Given the description of an element on the screen output the (x, y) to click on. 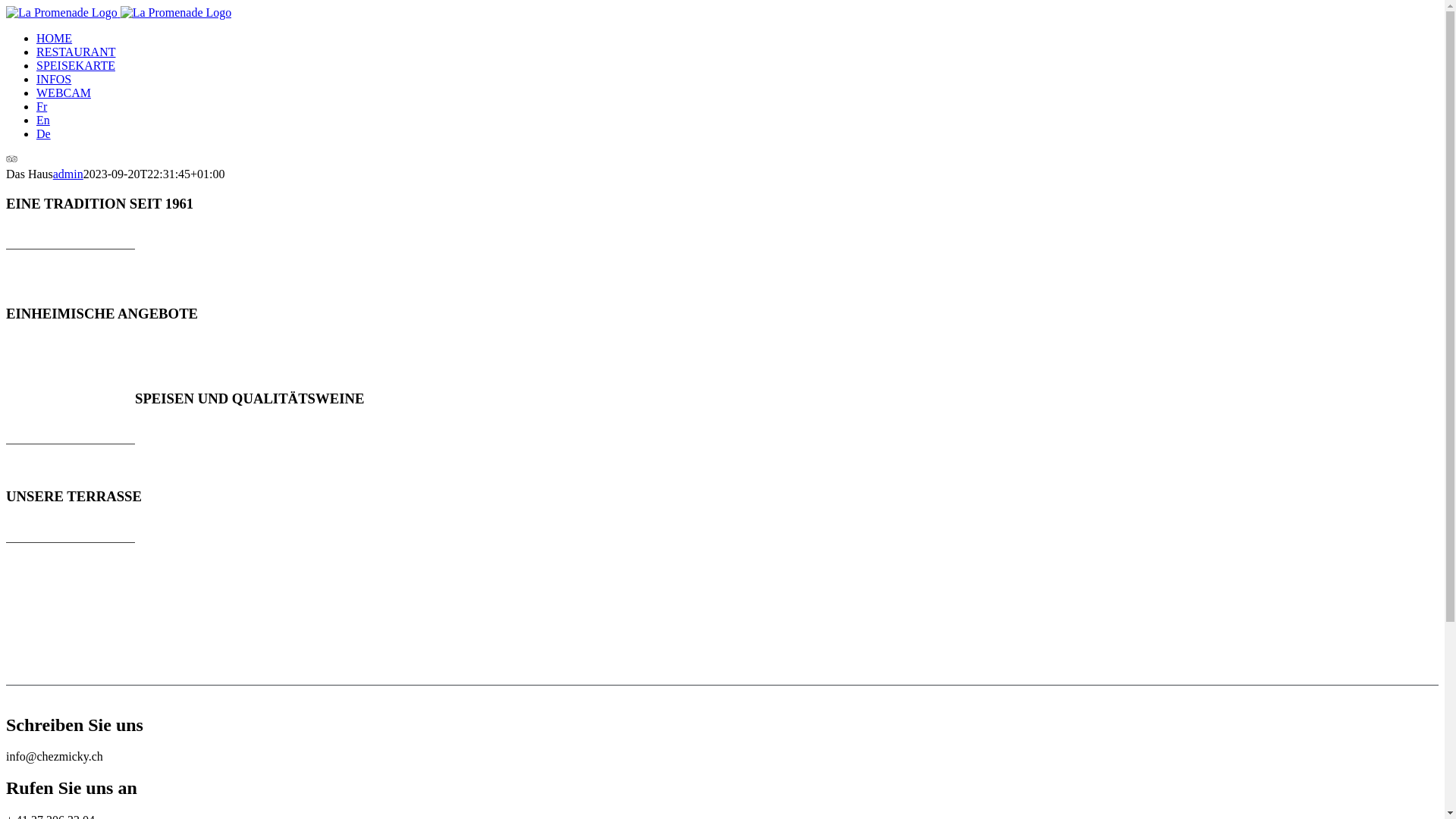
INFOS Element type: text (53, 78)
RESTAURANT Element type: text (76, 51)
Fr Element type: text (41, 106)
Tripadvisor Element type: text (11, 159)
WEBCAM Element type: text (63, 92)
HOME Element type: text (54, 37)
SPEISEKARTE Element type: text (75, 65)
En Element type: text (43, 119)
De Element type: text (43, 133)
Skip to content Element type: text (5, 5)
admin Element type: text (68, 173)
